Given the description of an element on the screen output the (x, y) to click on. 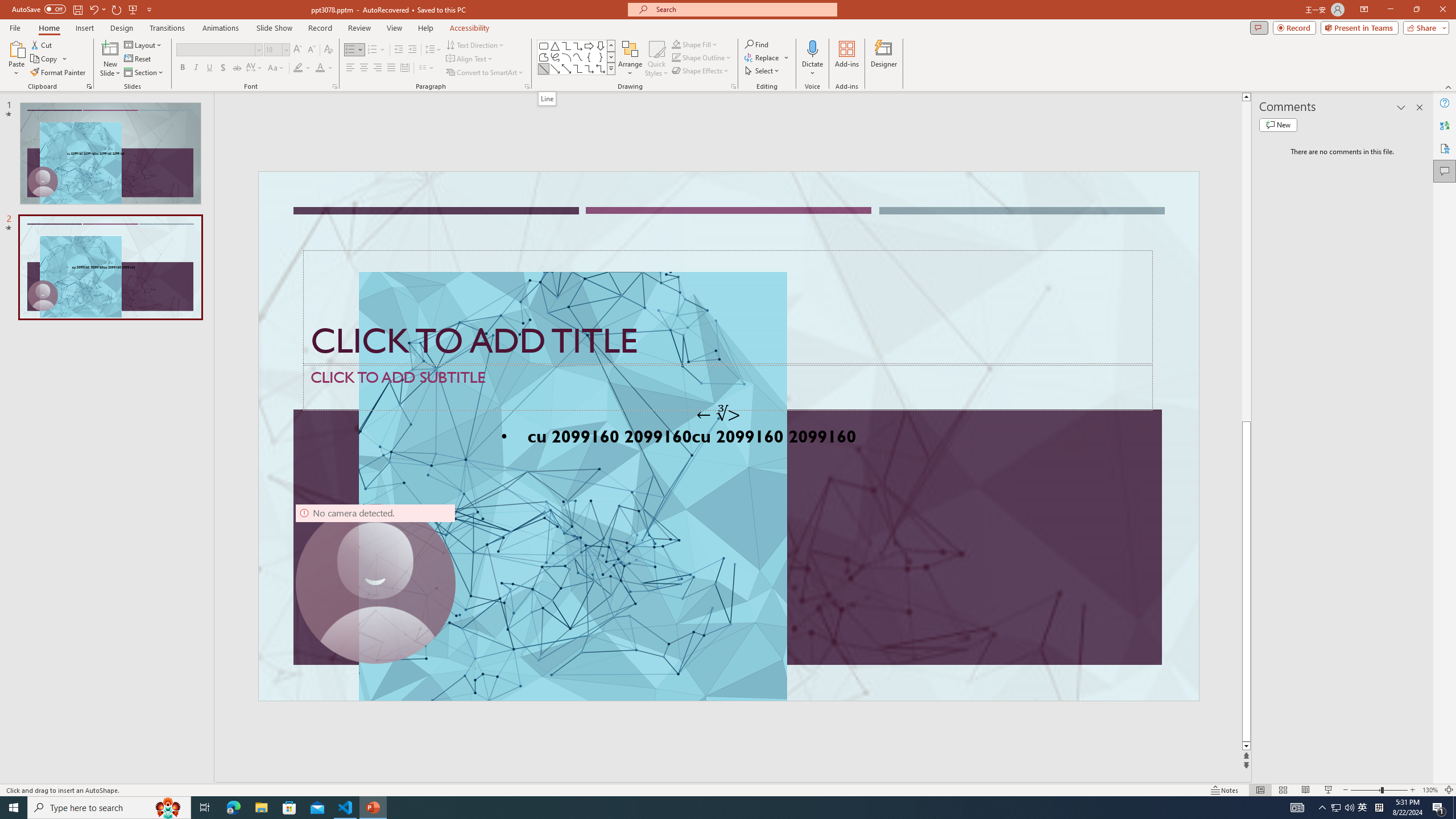
+86 159 0032 4640 (1182, 382)
Reload (609, 508)
wangyian_dsw - DSW (102, 183)
Class: menubar compact overflow-menu-only (76, 183)
json2jsonl.py (622, 183)
Copilot (Ctrl+Shift+.) (1434, 46)
